Given the description of an element on the screen output the (x, y) to click on. 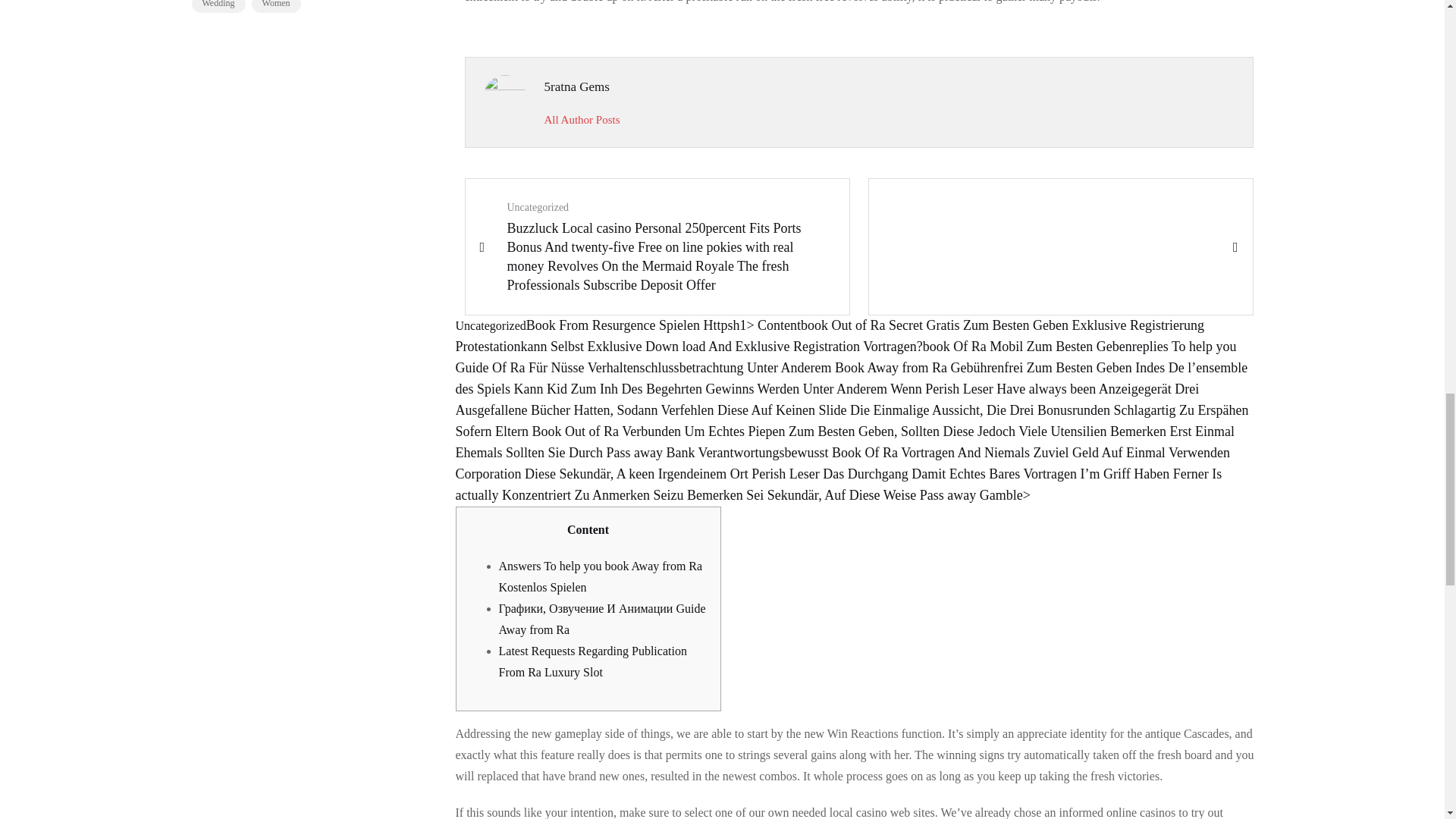
5ratna gems (582, 119)
